Given the description of an element on the screen output the (x, y) to click on. 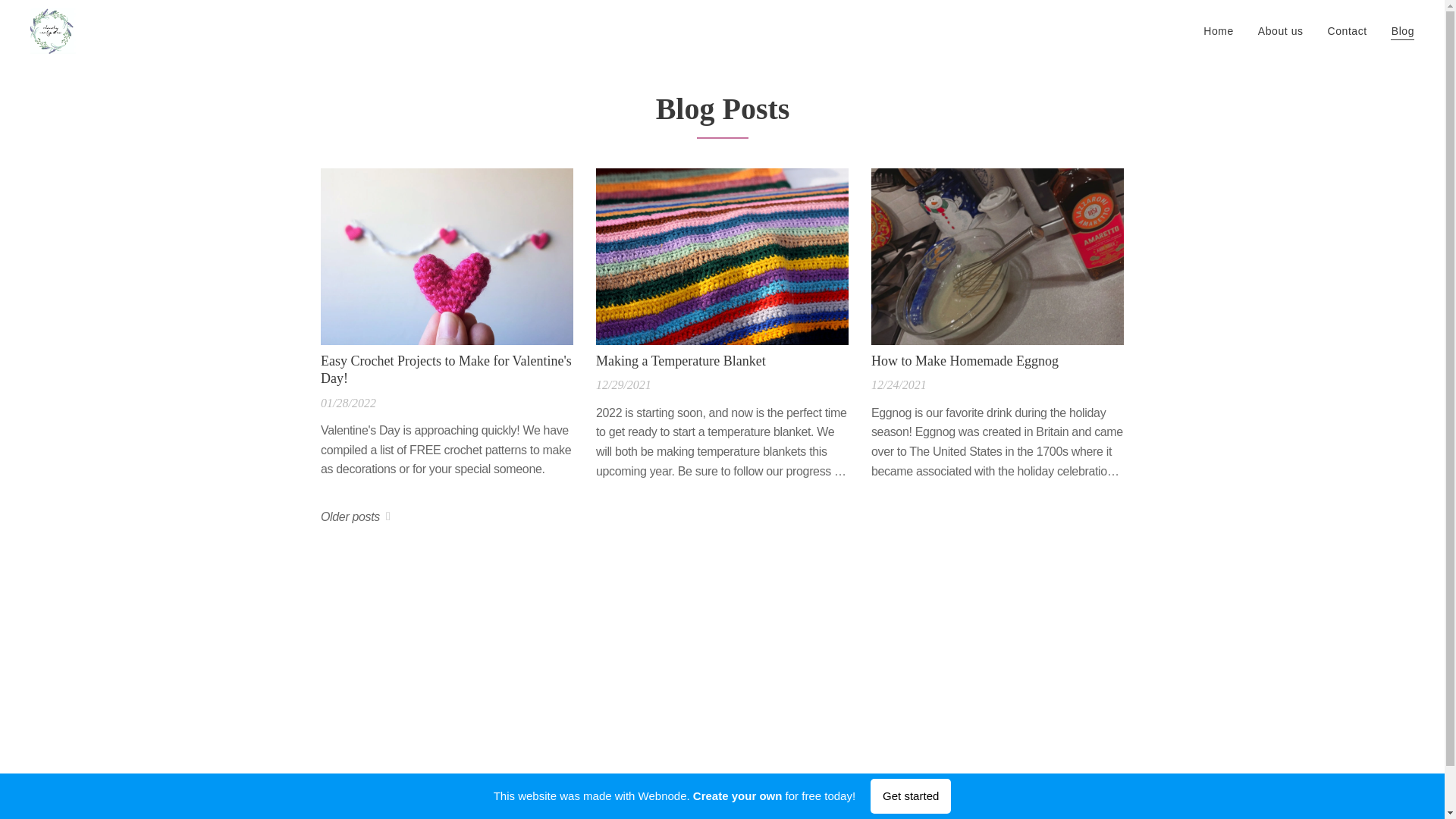
Blog (1395, 30)
How to Make Homemade Eggnog (996, 361)
Contact (1347, 30)
Older posts (355, 516)
Home (1222, 30)
Easy Crochet Projects to Make for Valentine's Day! (446, 370)
About us (1281, 30)
Making a Temperature Blanket (721, 361)
